Given the description of an element on the screen output the (x, y) to click on. 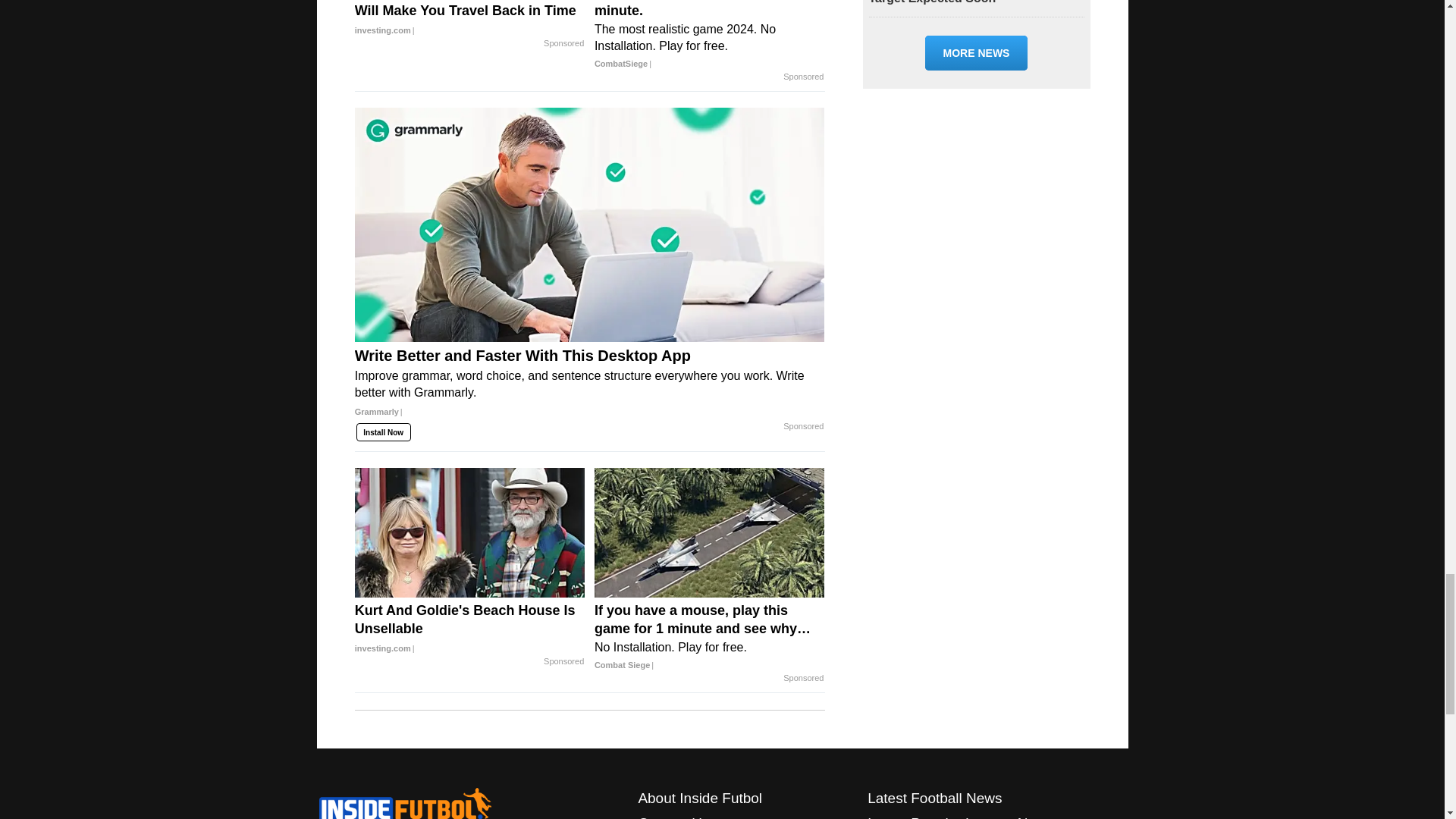
Write Better and Faster With This Desktop App (590, 225)
If you own a mouse, play it for 1 minute. (709, 36)
Write Better and Faster With This Desktop App (590, 387)
